Given the description of an element on the screen output the (x, y) to click on. 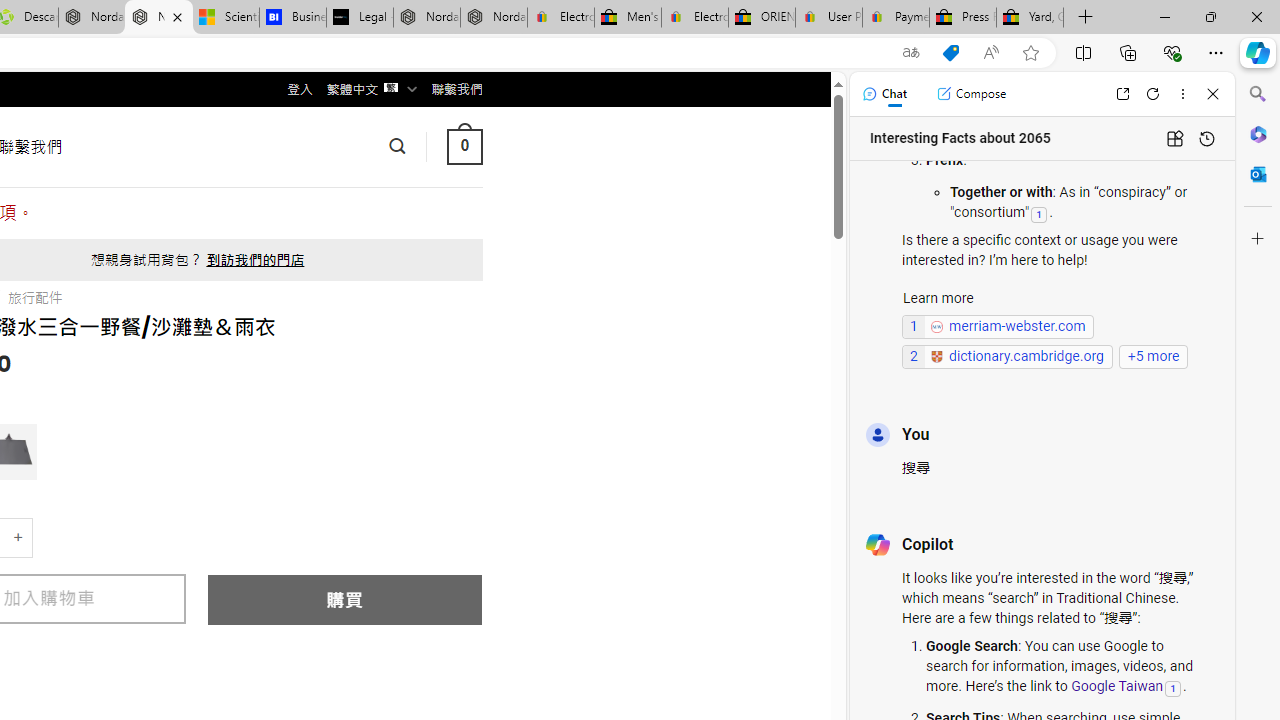
Minimize Search pane (1258, 94)
